Given the description of an element on the screen output the (x, y) to click on. 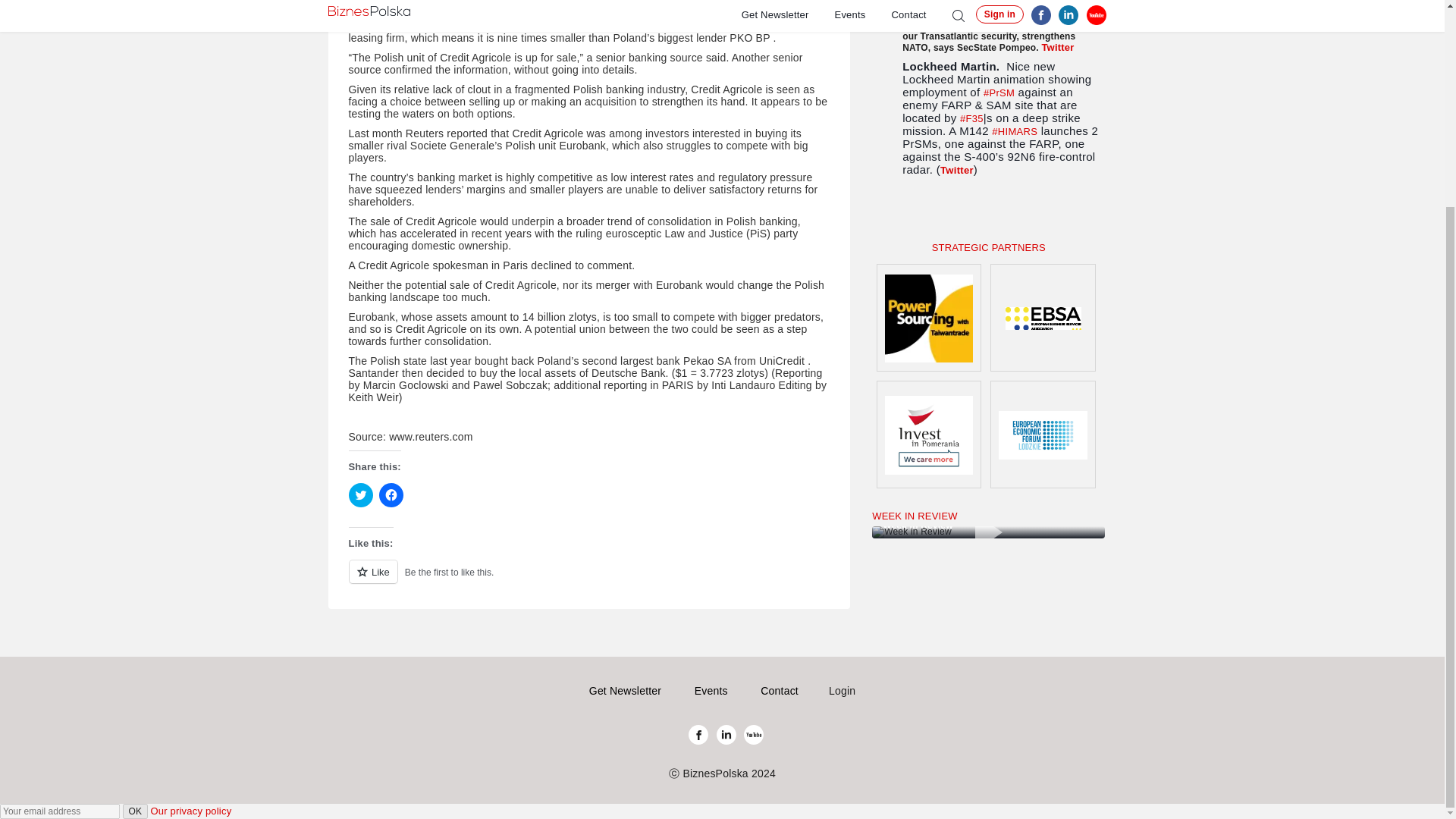
SIGN UP (911, 213)
Login (841, 690)
Twitter (1057, 47)
Twitter (957, 170)
www.reuters.com (429, 436)
Events (711, 690)
Get Newsletter (625, 690)
Contact (778, 690)
Click to share on Facebook (390, 494)
Events (711, 690)
Click to share on Twitter (360, 494)
Like or Reblog (589, 580)
Week in Review (988, 532)
Contact (778, 690)
Get Newsletter (625, 690)
